Given the description of an element on the screen output the (x, y) to click on. 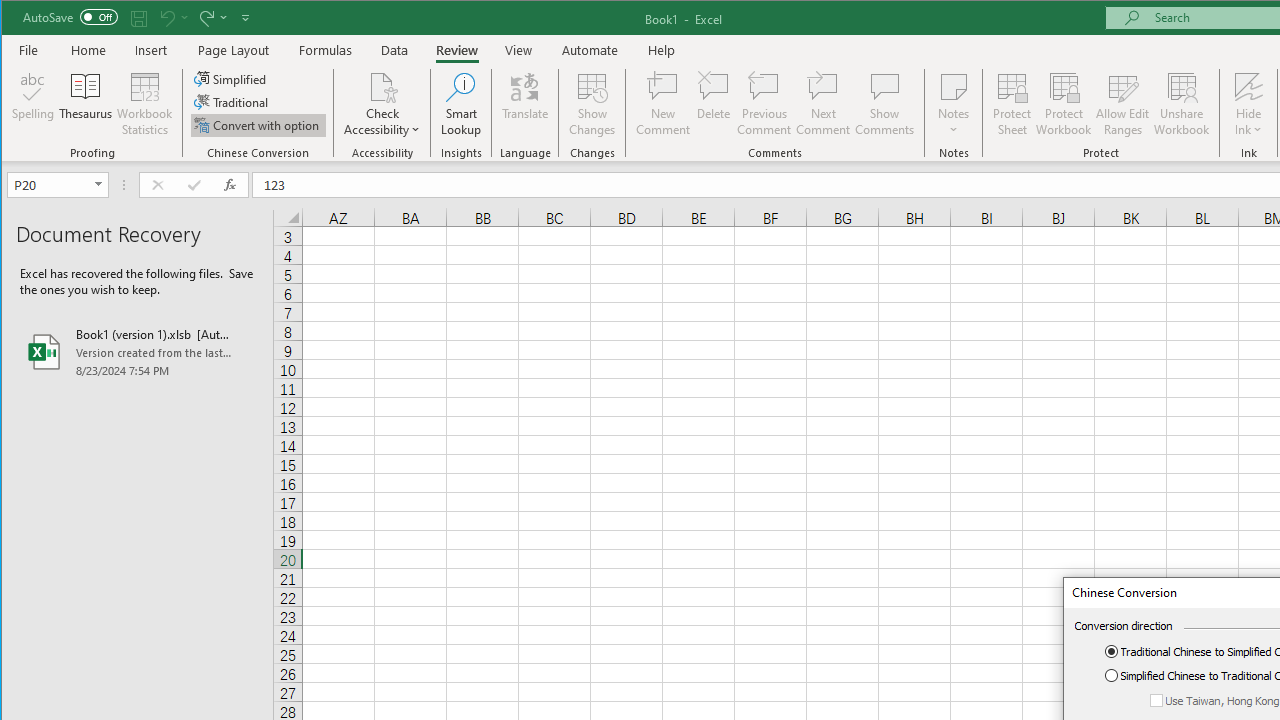
Show Comments (884, 104)
Convert with option (258, 124)
Notes (954, 104)
Translate (525, 104)
Protect Workbook... (1064, 104)
